Given the description of an element on the screen output the (x, y) to click on. 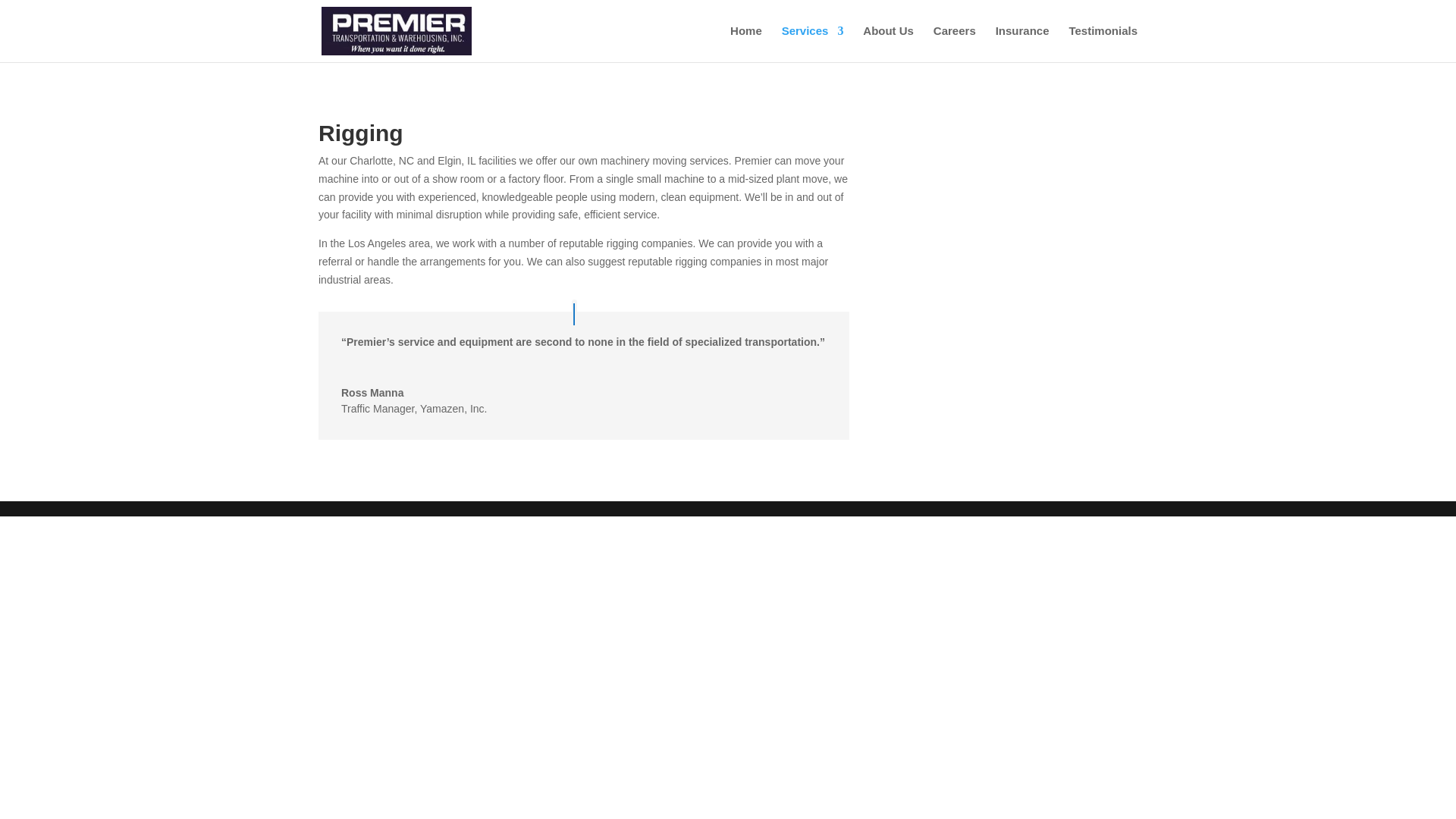
About Us (888, 43)
Careers (954, 43)
Services (812, 43)
Testimonials (1102, 43)
Insurance (1022, 43)
Home (745, 43)
